Given the description of an element on the screen output the (x, y) to click on. 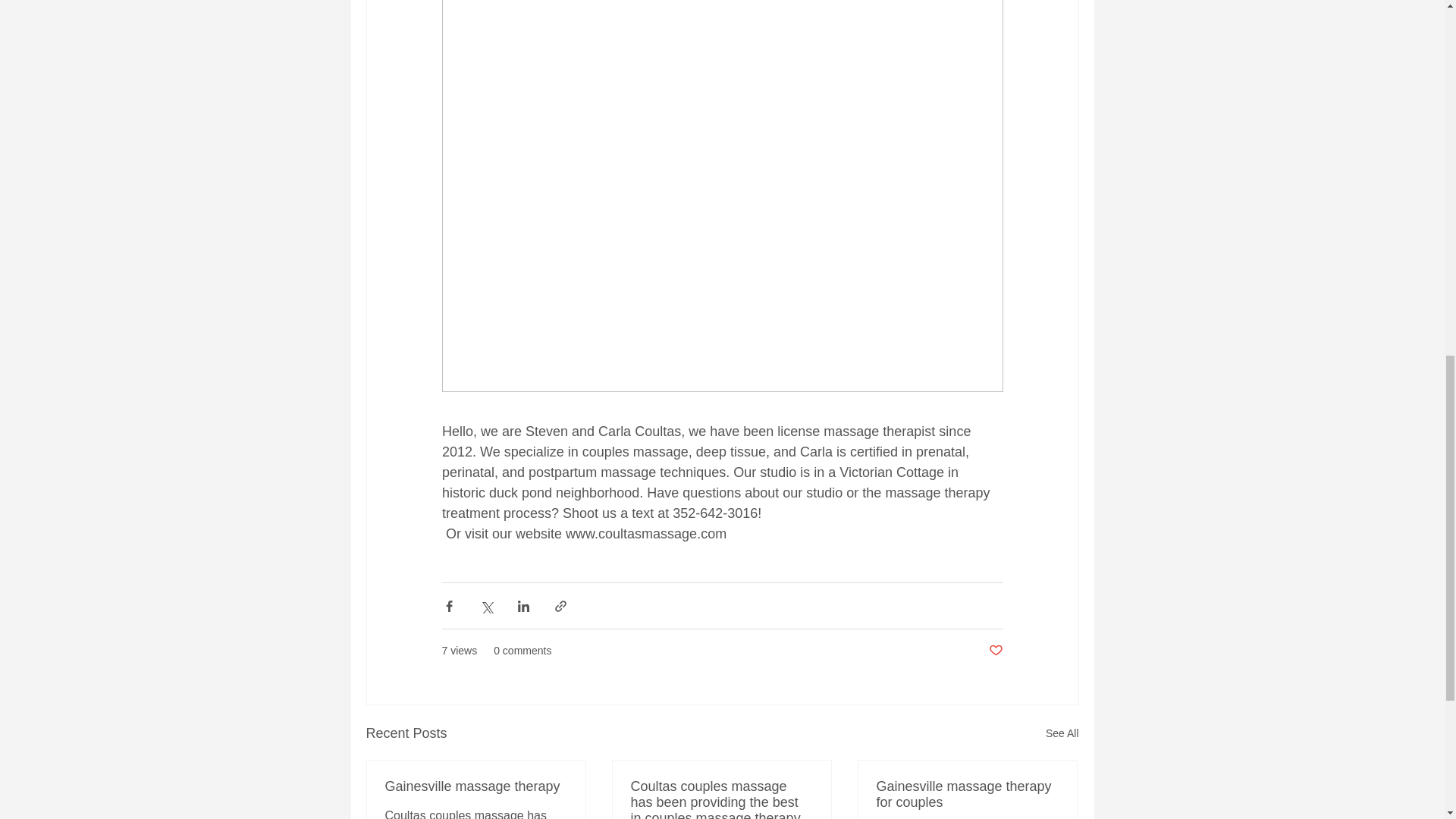
See All (1061, 733)
Gainesville massage therapy (476, 786)
Gainesville massage therapy for couples (967, 794)
Post not marked as liked (995, 650)
